Given the description of an element on the screen output the (x, y) to click on. 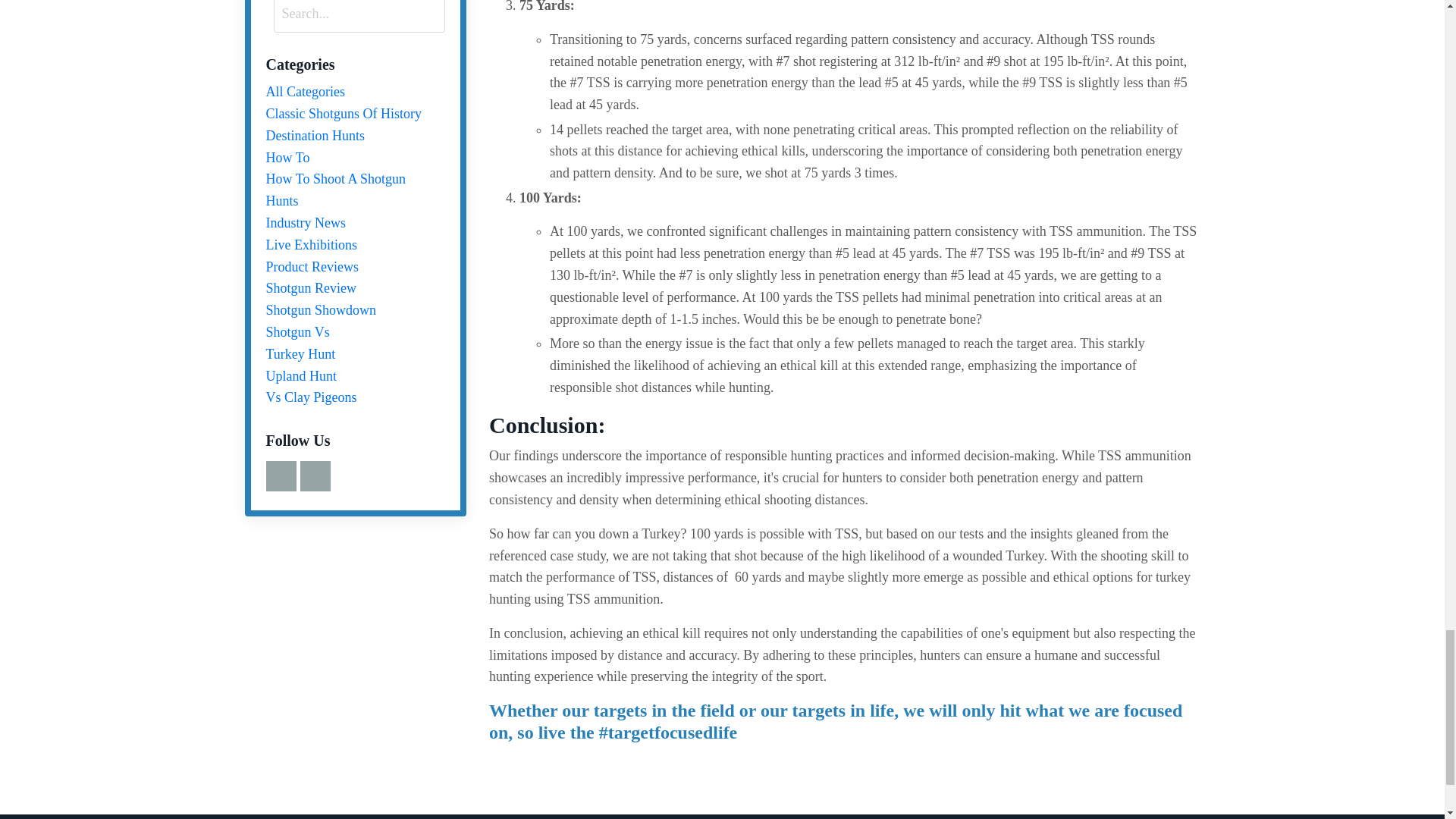
Industry News (354, 223)
Shotgun Showdown (354, 310)
Shotgun Review (354, 288)
Destination Hunts (354, 136)
All Categories (354, 92)
Product Reviews (354, 267)
Hunts (354, 201)
Classic Shotguns Of History (354, 114)
Live Exhibitions (354, 245)
How To (354, 157)
